Given the description of an element on the screen output the (x, y) to click on. 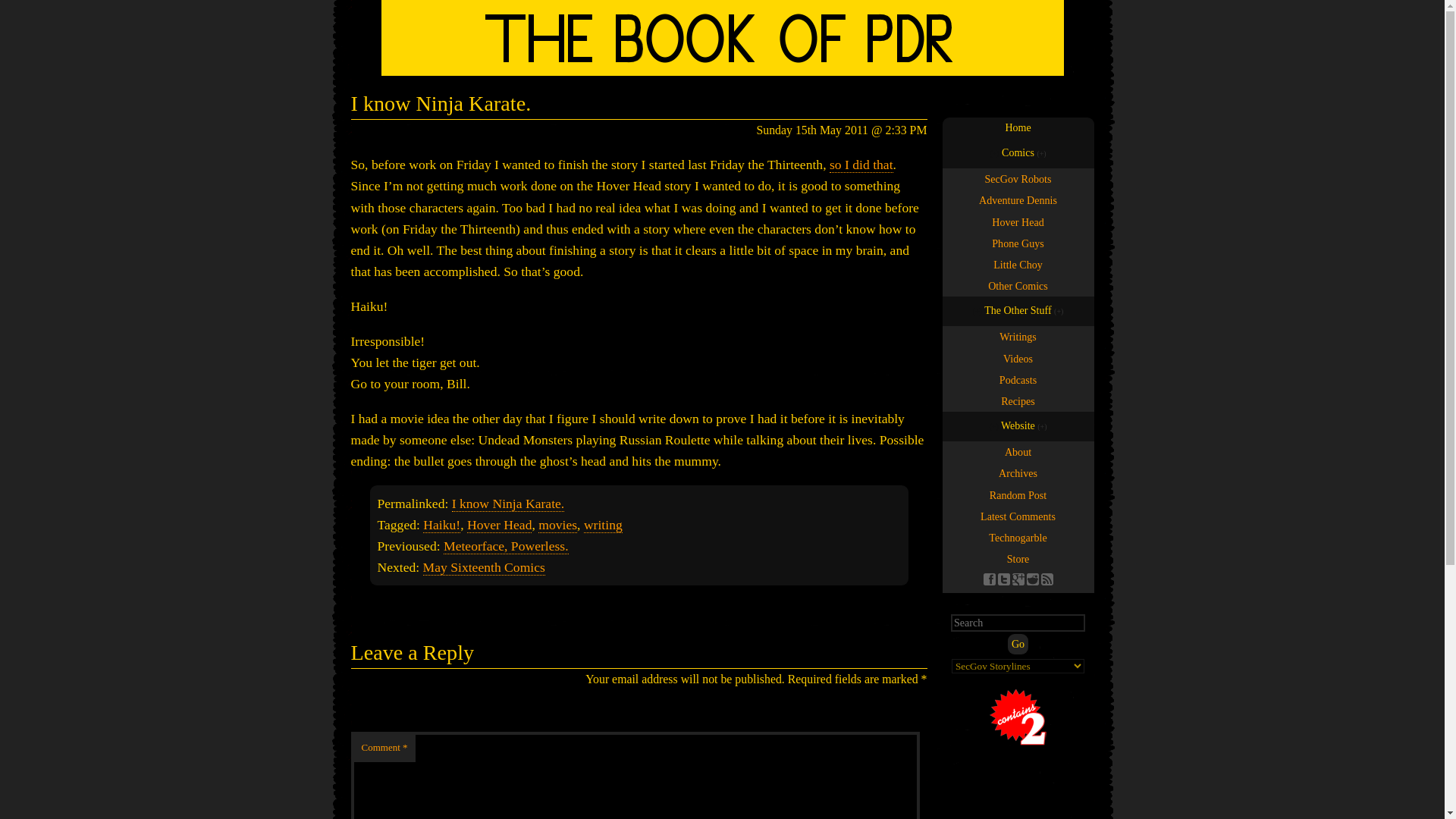
Adventure Dennis (1017, 199)
Recipes (1017, 400)
About (1017, 451)
Twitter! (1003, 579)
Technogarble (1017, 537)
Other Comics (1017, 285)
so I did that (861, 164)
I know Ninja Karate. (507, 503)
May Sixteenth Comics (483, 567)
movies (557, 524)
Archives (1017, 473)
Latest Comments (1017, 516)
Home (1018, 127)
FB (988, 579)
Random Post (1017, 494)
